Given the description of an element on the screen output the (x, y) to click on. 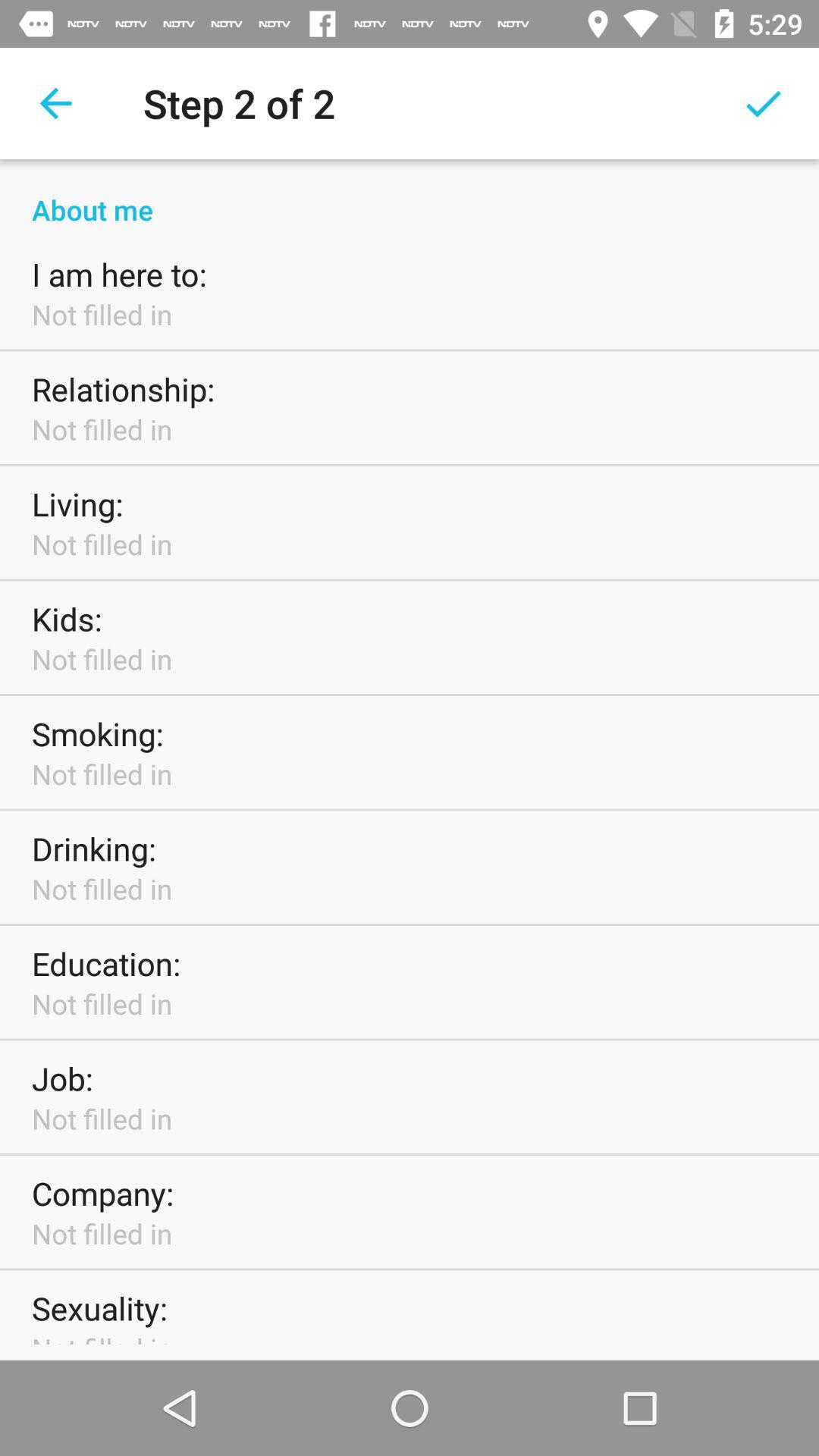
click the item to the right of the step 2 of (763, 103)
